Given the description of an element on the screen output the (x, y) to click on. 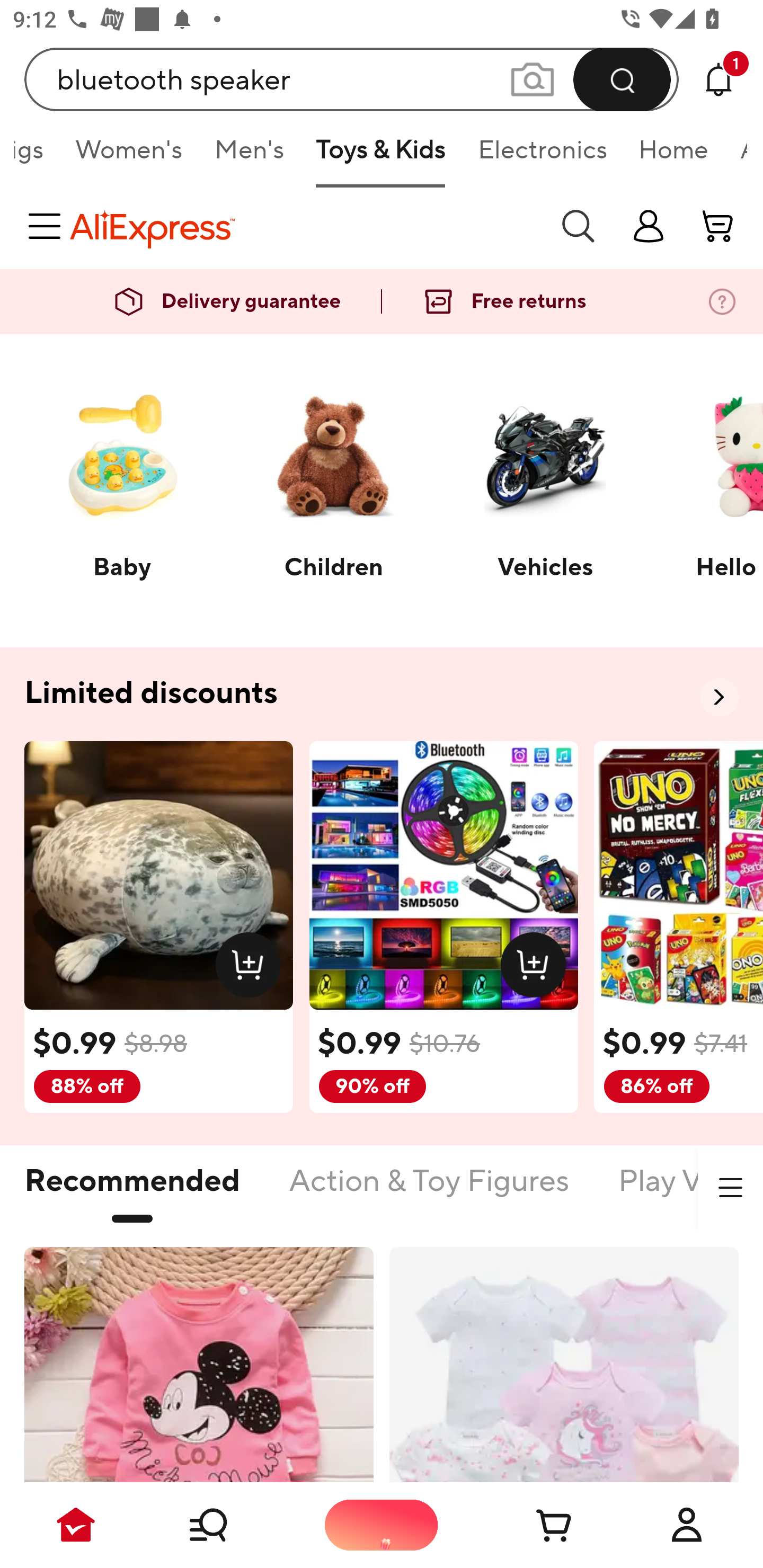
bluetooth speaker (351, 79)
Women's (128, 155)
Men's (248, 155)
Electronics (541, 155)
Home (673, 155)
aliexpress (305, 225)
category (47, 225)
shop (648, 225)
account (718, 225)
Limited discounts  Limited discounts (381, 694)
128x128.png_ (252, 967)
128x128.png_ (536, 967)
 (730, 1188)
Recommended (132, 1191)
Action & Toy Figures (428, 1191)
Play Vehicles & Models (689, 1191)
Shop (228, 1524)
Cart (533, 1524)
Account (686, 1524)
